Given the description of an element on the screen output the (x, y) to click on. 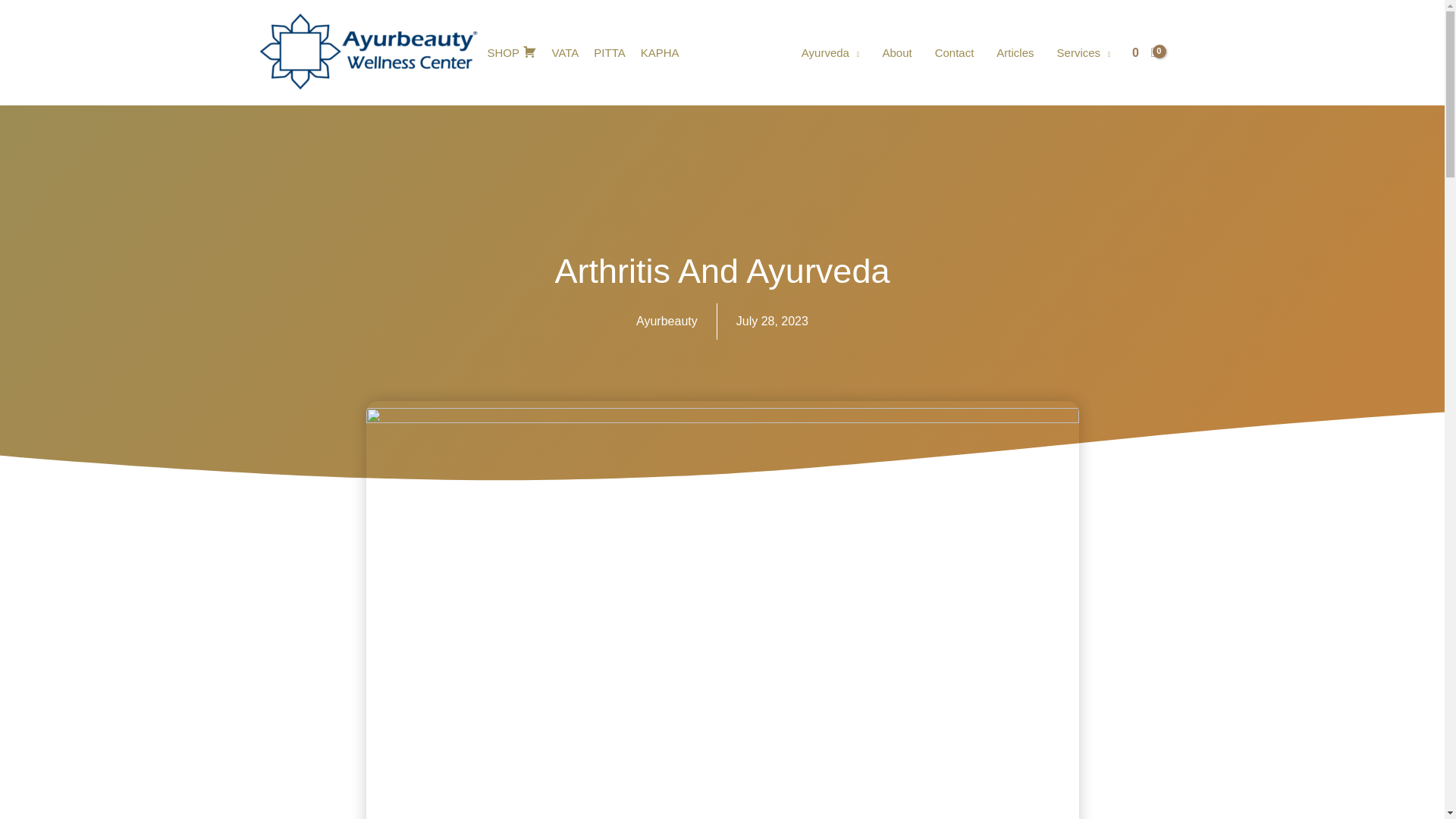
Services (1083, 51)
VATA (565, 51)
SHOP (511, 51)
KAPHA (660, 51)
Ayurbeauty (666, 321)
Contact (954, 51)
Articles (1015, 51)
About (896, 51)
PITTA (608, 51)
July 28, 2023 (772, 321)
Ayurveda (830, 51)
